Given the description of an element on the screen output the (x, y) to click on. 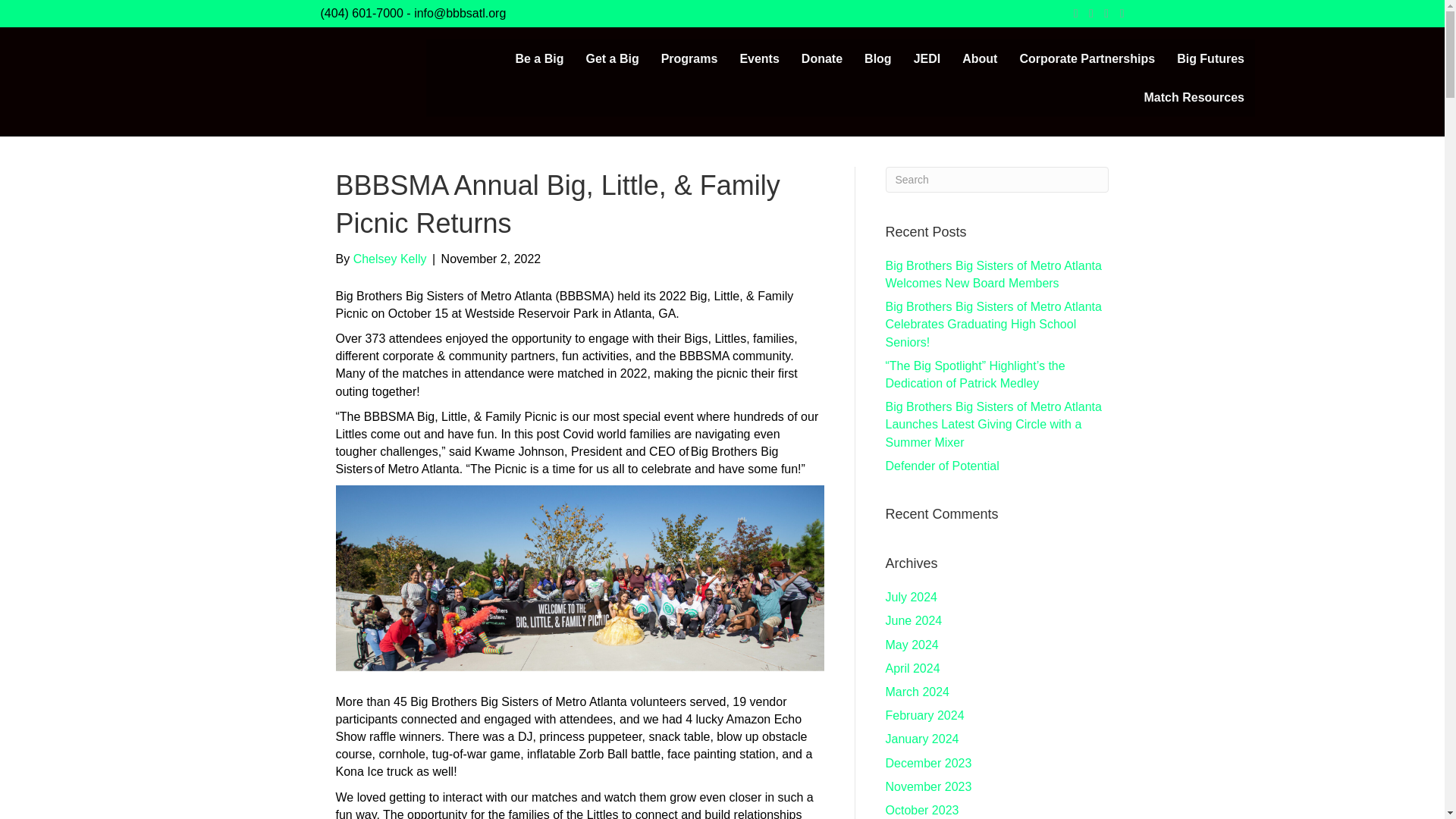
Big Futures (1210, 58)
JEDI (927, 58)
Type and press Enter to search. (997, 179)
Events (759, 58)
Programs (689, 58)
About (979, 58)
Get a Big (612, 58)
Chelsey Kelly (389, 258)
Match Resources (1194, 97)
Corporate Partnerships (1087, 58)
